Given the description of an element on the screen output the (x, y) to click on. 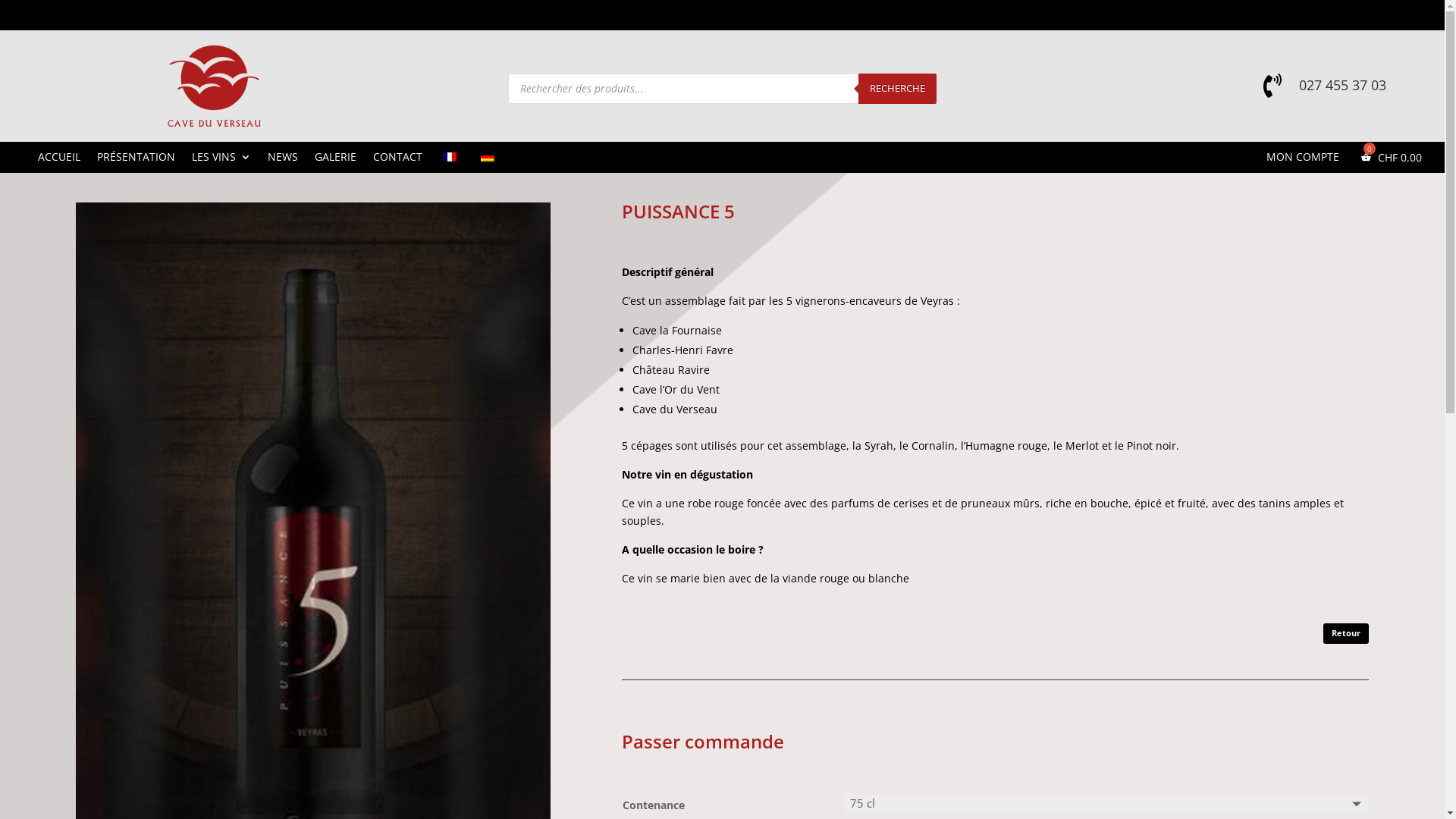
MON COMPTE Element type: text (1302, 160)
LES VINS Element type: text (221, 159)
ACCUEIL Element type: text (58, 159)
NEWS Element type: text (282, 159)
German Element type: hover (487, 156)
French Element type: hover (449, 156)
RECHERCHE Element type: text (897, 88)
GALERIE Element type: text (335, 159)
CHF 0.00 Element type: text (1388, 160)
CONTACT Element type: text (397, 159)
contact-1 Element type: hover (214, 86)
Retour Element type: text (1345, 633)
